Given the description of an element on the screen output the (x, y) to click on. 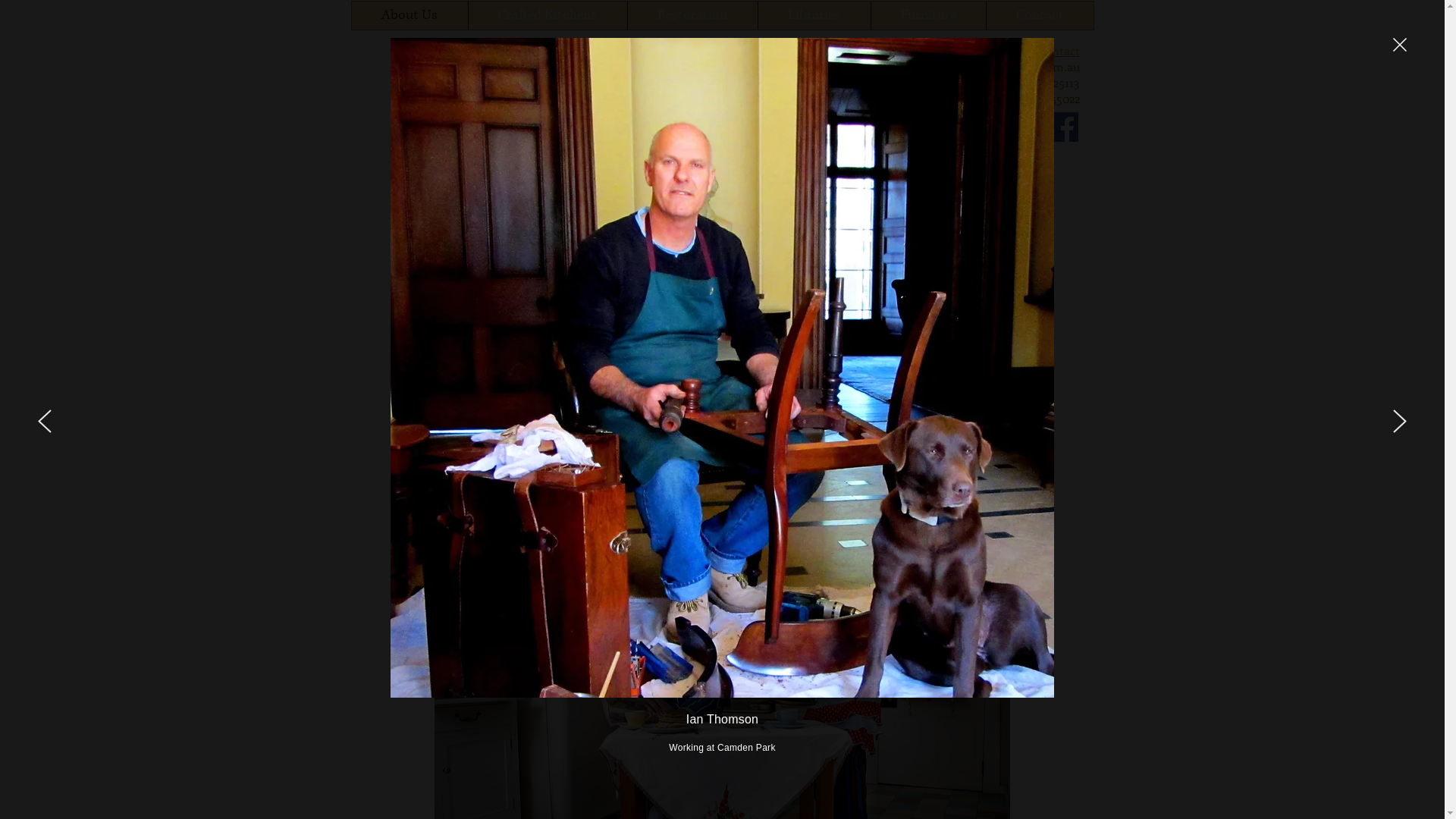
ian@ianthomson.com.au Element type: text (1009, 65)
full libraries Element type: text (728, 272)
Furniture Element type: text (927, 15)
Contact Element type: text (1039, 15)
Kitchen Design      Joinery      Cabinet Maker Element type: text (693, 123)
Libraries Element type: text (812, 15)
Contact Element type: text (1058, 50)
Historic Houses Element type: text (746, 393)
Felicity: 0403845022 Element type: text (1025, 97)
craft entire kitchens Element type: text (651, 324)
Ian: 0408925113 Element type: text (1037, 82)
About Us Element type: text (409, 15)
our store Element type: text (842, 447)
